Given the description of an element on the screen output the (x, y) to click on. 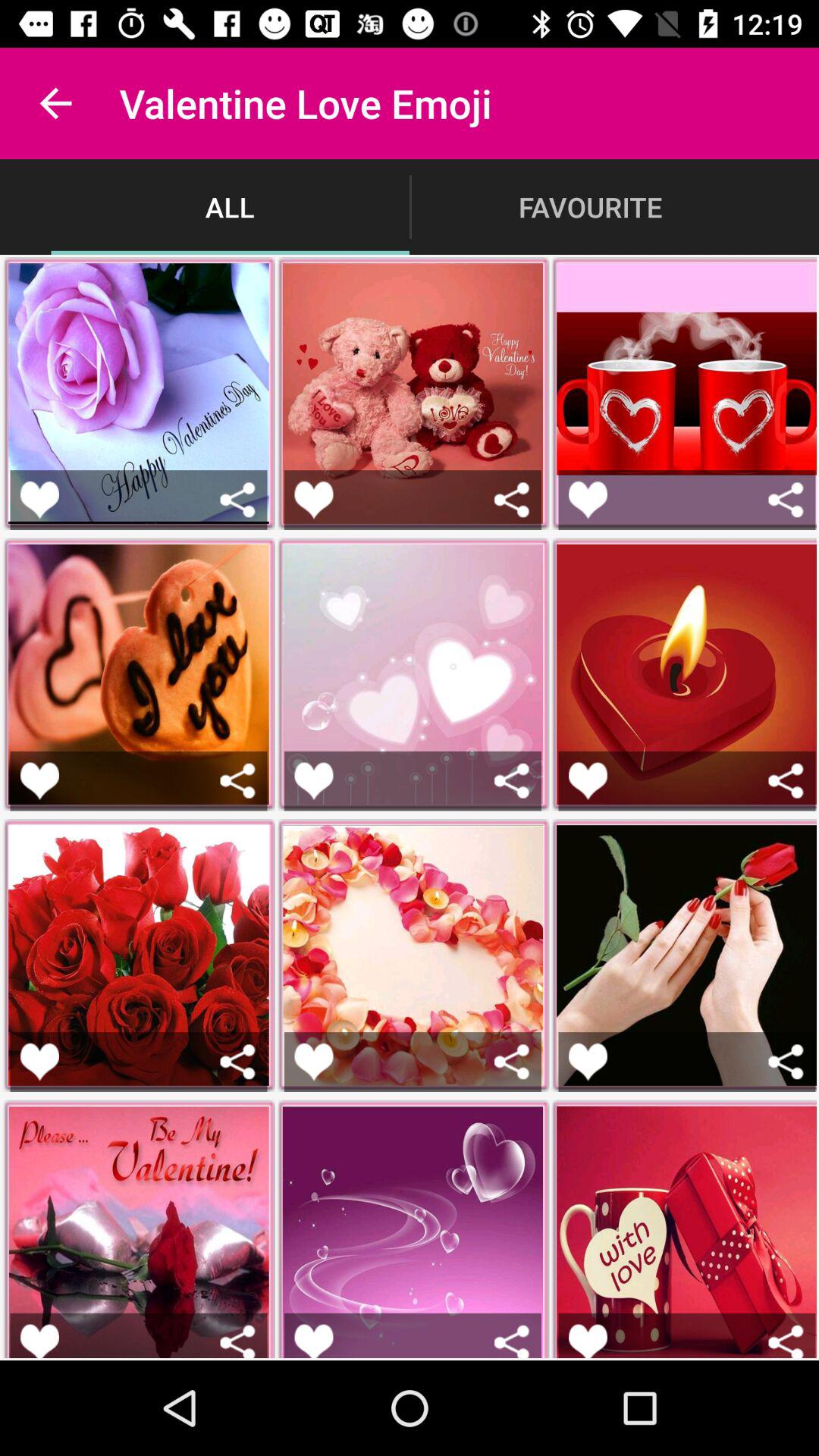
love/like (313, 499)
